Given the description of an element on the screen output the (x, y) to click on. 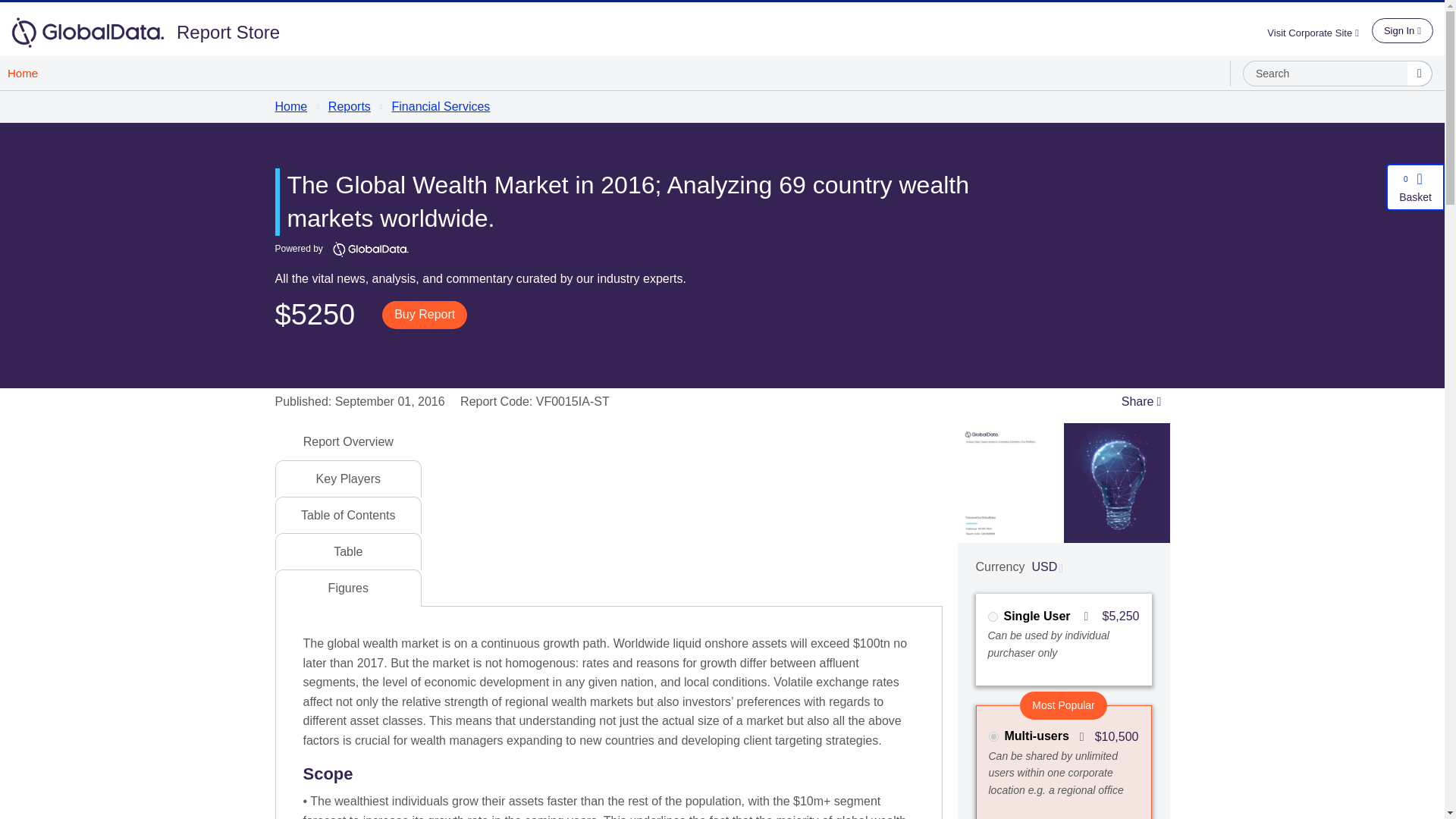
909314 (993, 737)
Home (22, 73)
Sign In (1401, 30)
Visit Corporate Site (1318, 31)
909313 (992, 615)
